Given the description of an element on the screen output the (x, y) to click on. 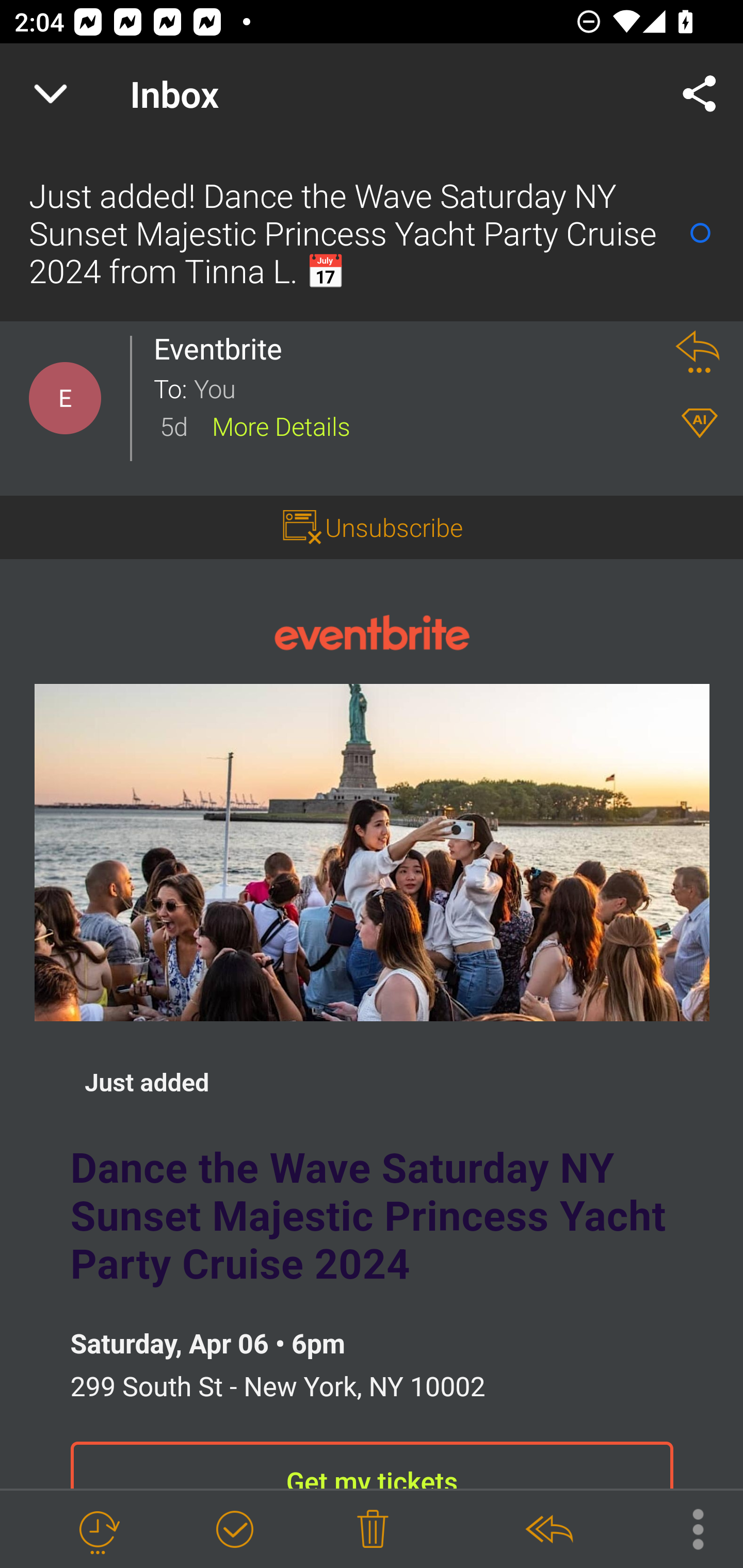
Navigate up (50, 93)
Share (699, 93)
Mark as Read (699, 232)
Eventbrite (222, 348)
Contact Details (64, 398)
You (422, 387)
More Details (280, 424)
Unsubscribe (393, 526)
Eventbrite (371, 631)
Get my tickets (371, 1464)
More Options (687, 1528)
Snooze (97, 1529)
Mark as Done (234, 1529)
Delete (372, 1529)
Reply All (548, 1529)
